Given the description of an element on the screen output the (x, y) to click on. 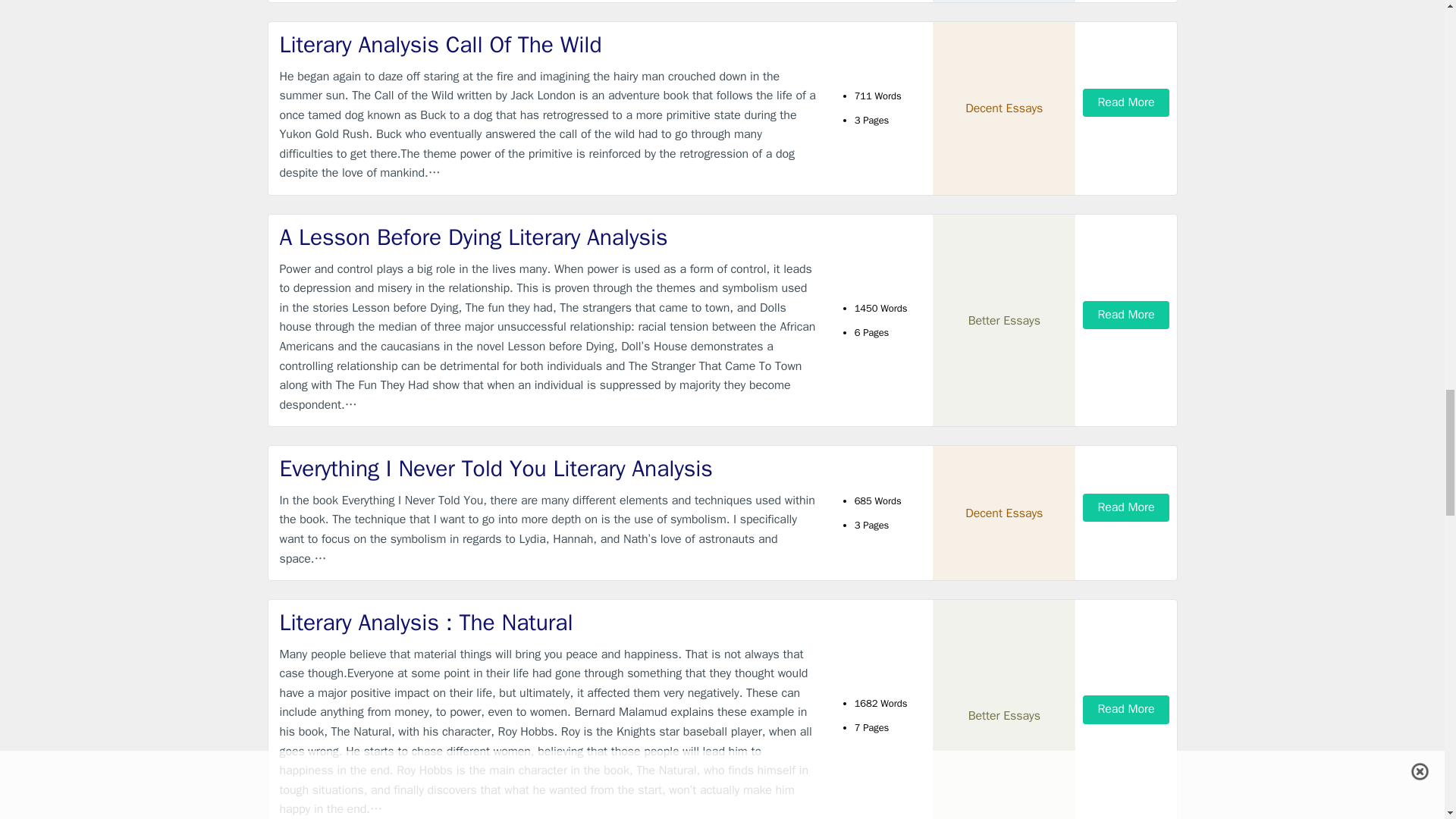
Literary Analysis Call Of The Wild (548, 44)
Read More (1126, 315)
Read More (1126, 102)
A Lesson Before Dying Literary Analysis (548, 237)
